Given the description of an element on the screen output the (x, y) to click on. 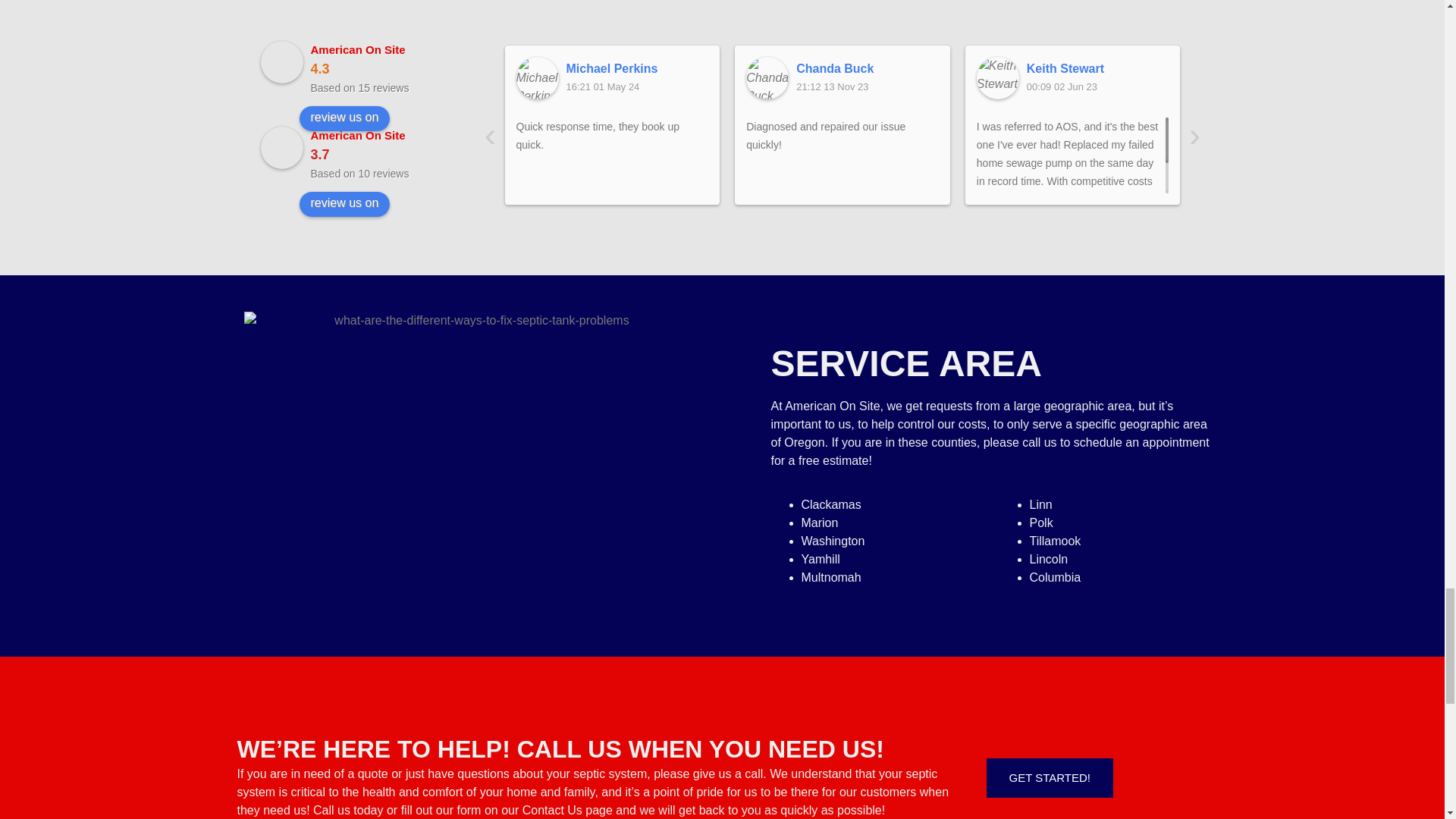
American On Site (281, 61)
Keith Stewart (1097, 68)
Michael Perkins (636, 68)
Chanda Buck (767, 77)
Michael Perkins (536, 77)
American On Site (281, 147)
Keith Stewart (997, 77)
Chanda Buck (867, 68)
